Given the description of an element on the screen output the (x, y) to click on. 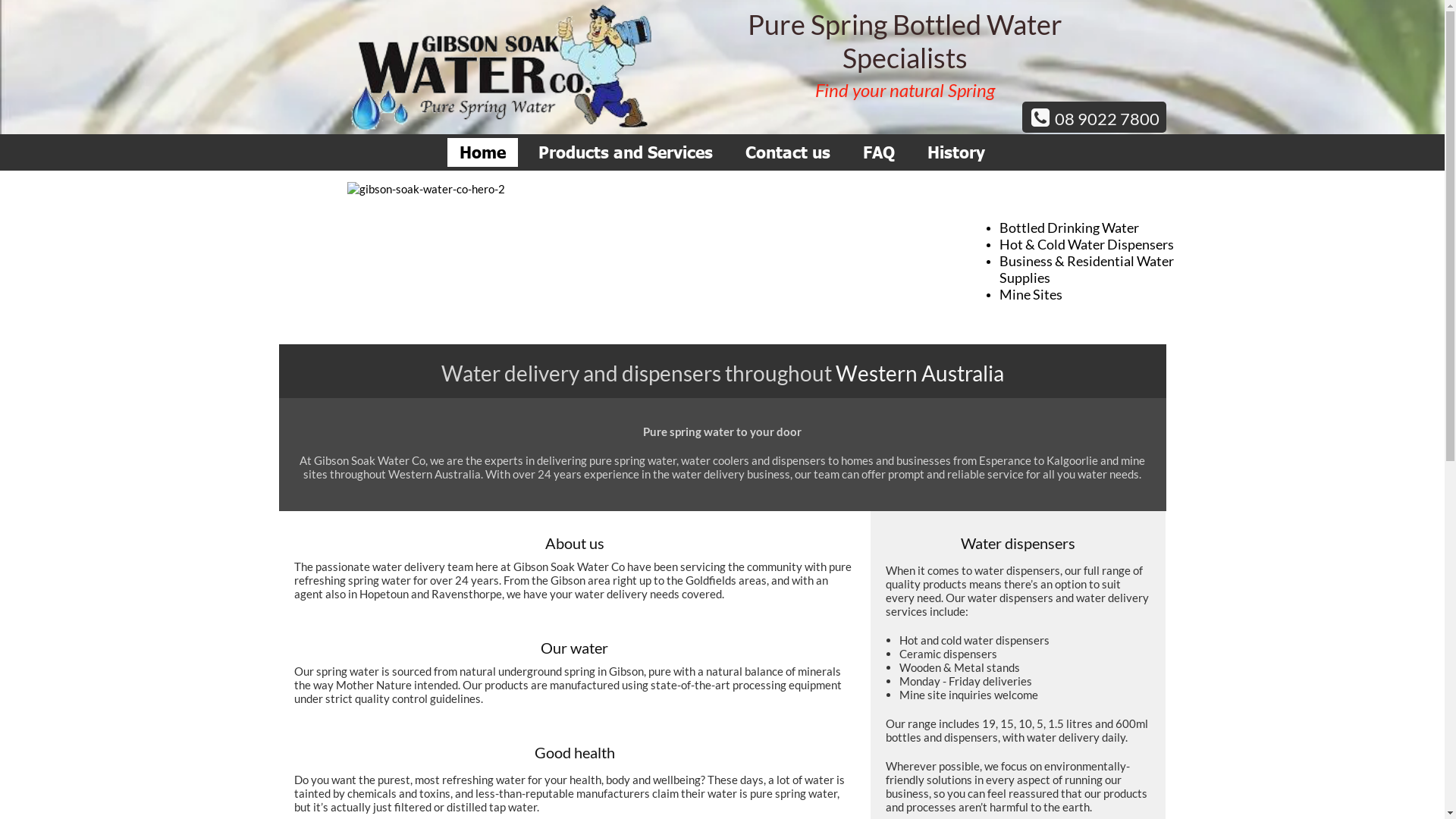
History Element type: text (956, 152)
Contact us Element type: text (787, 152)
gibson-soak-water-co-hero-2 Element type: hover (635, 246)
FAQ Element type: text (878, 152)
Home Element type: text (482, 152)
Products and Services Element type: text (625, 152)
